Given the description of an element on the screen output the (x, y) to click on. 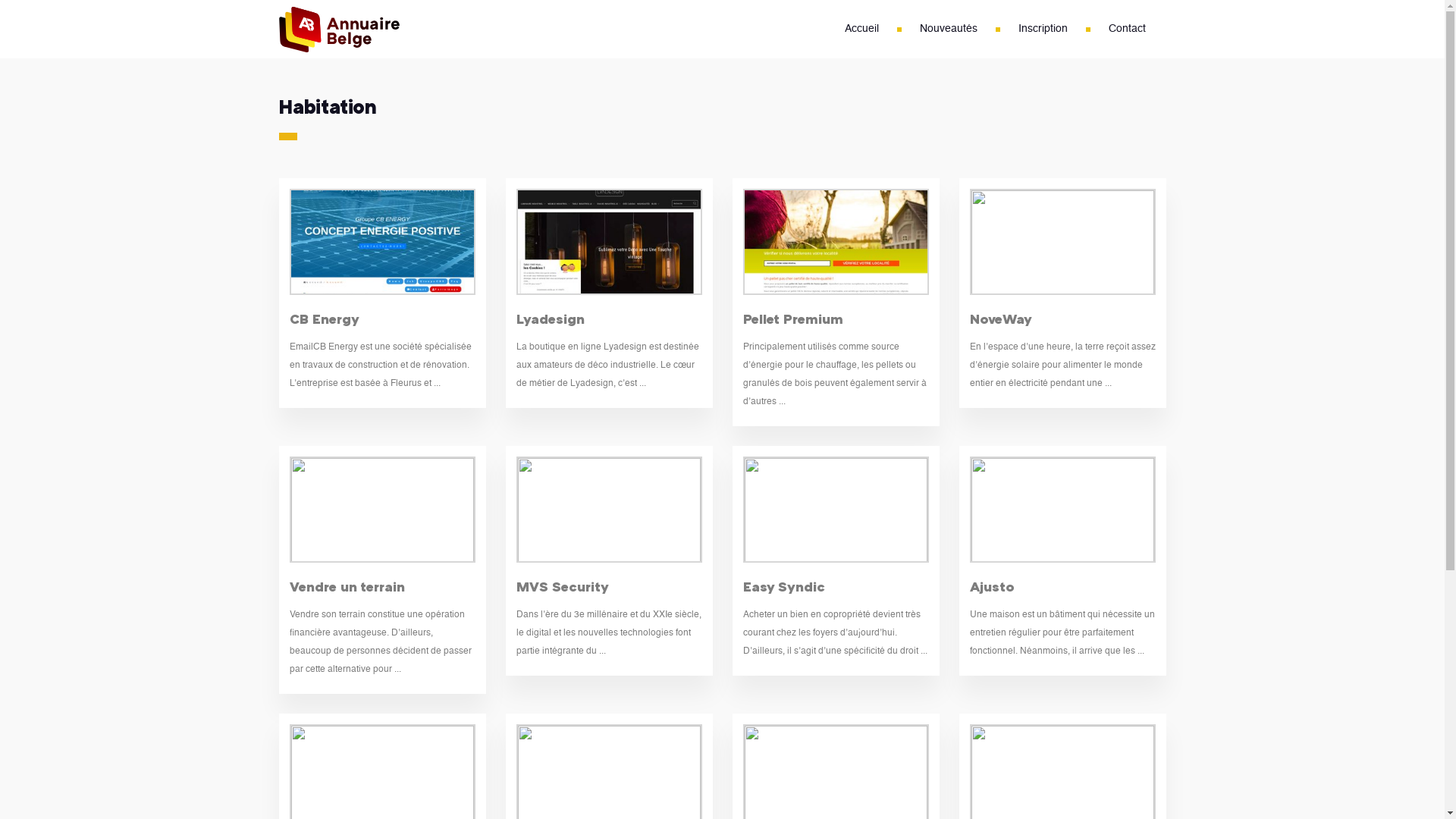
CB Energy Element type: text (324, 318)
Lyadesign Element type: text (549, 318)
NoveWay Element type: text (1000, 318)
Pellet Premium Element type: text (793, 318)
Vendre un terrain Element type: text (346, 585)
Contact Element type: text (1126, 29)
Accueil Element type: text (861, 29)
MVS Security Element type: text (561, 585)
Ajusto Element type: text (991, 585)
Inscription Element type: text (1041, 29)
Easy Syndic Element type: text (784, 585)
